Given the description of an element on the screen output the (x, y) to click on. 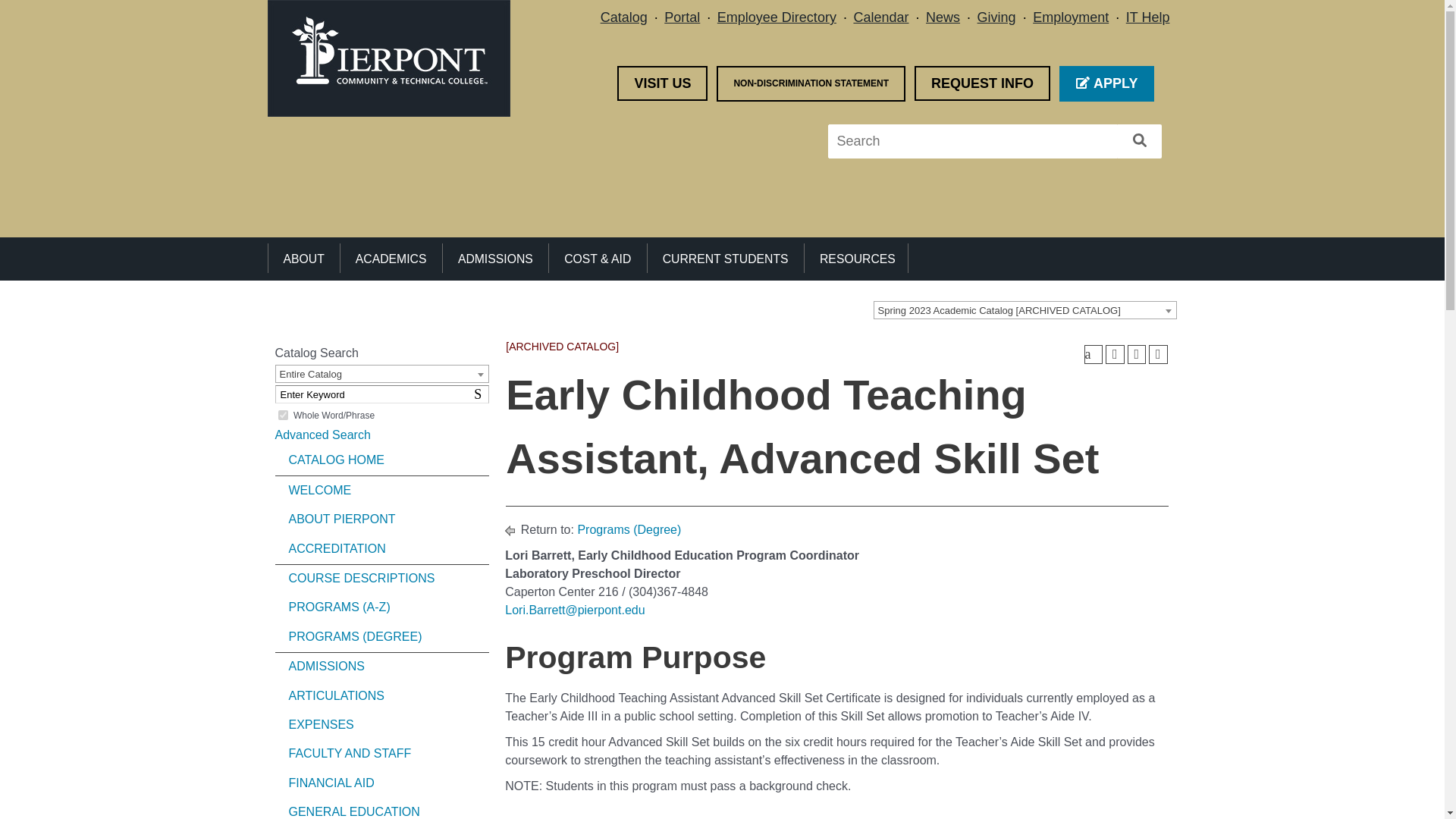
REQUEST INFO (981, 83)
Employment (1070, 17)
Search (480, 393)
Enter Keyword   (382, 393)
Exact Match (282, 415)
Search (1139, 141)
Search Keyword Field, required (382, 393)
ABOUT (302, 257)
ADMISSIONS (495, 257)
Choose Search Location (382, 373)
Portal (681, 17)
Giving (996, 17)
Employee Directory (776, 17)
